Given the description of an element on the screen output the (x, y) to click on. 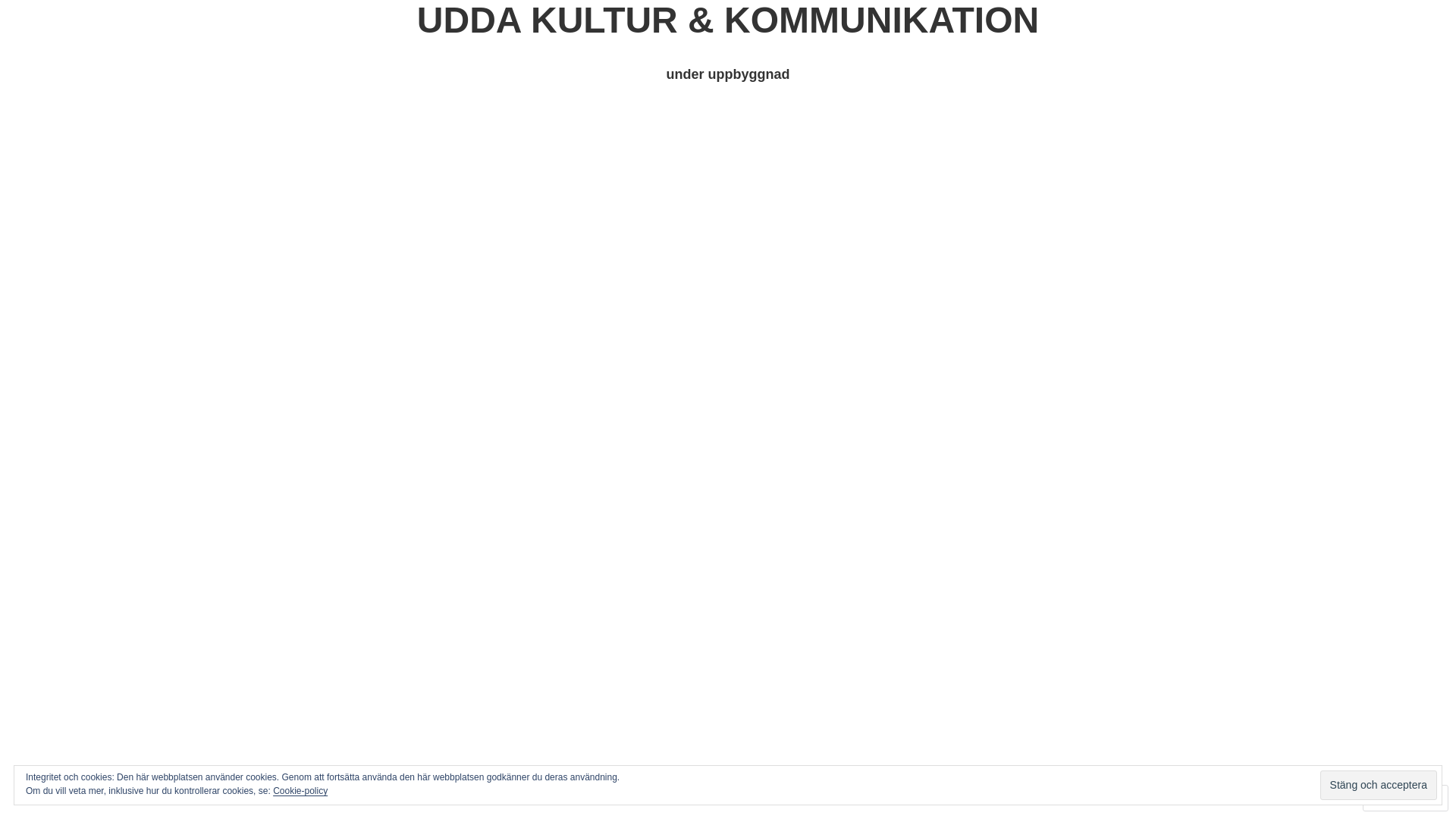
Cookie-policy Element type: text (300, 790)
